Given the description of an element on the screen output the (x, y) to click on. 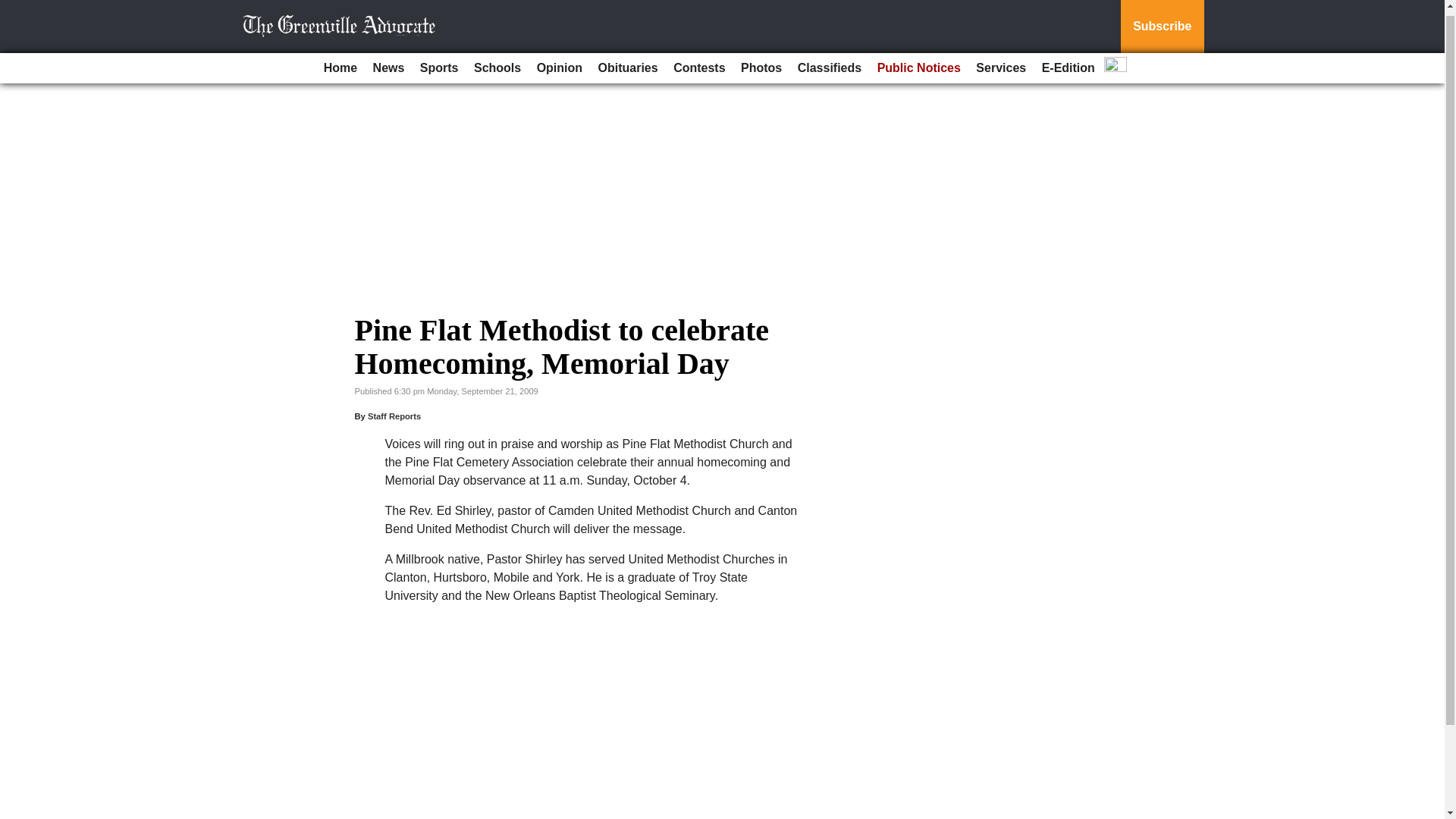
Photos (761, 62)
Subscribe (1162, 23)
Schools (497, 62)
Sports (438, 62)
Services (1000, 62)
Staff Reports (394, 415)
Public Notices (918, 62)
Opinion (559, 62)
Obituaries (627, 62)
Home (339, 62)
